Given the description of an element on the screen output the (x, y) to click on. 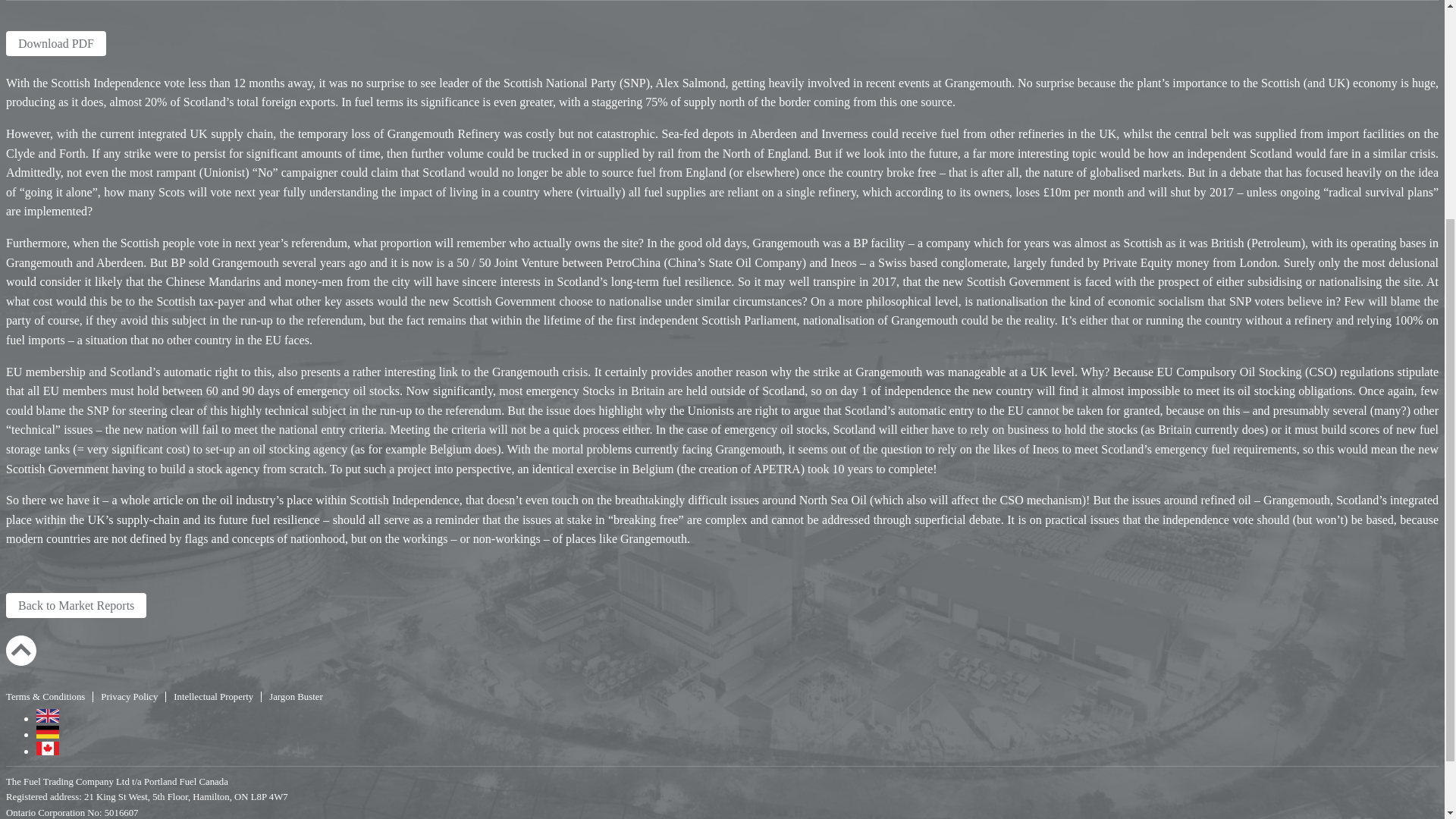
Download a PDF of the report (55, 43)
Privacy Policy (129, 696)
Back to Market Reports (76, 605)
Jargon Buster (291, 696)
Download PDF (55, 43)
Privacy Policy (129, 696)
Intellectual Property (212, 696)
Back to Market Reports (76, 605)
Go to top of page (20, 650)
